Given the description of an element on the screen output the (x, y) to click on. 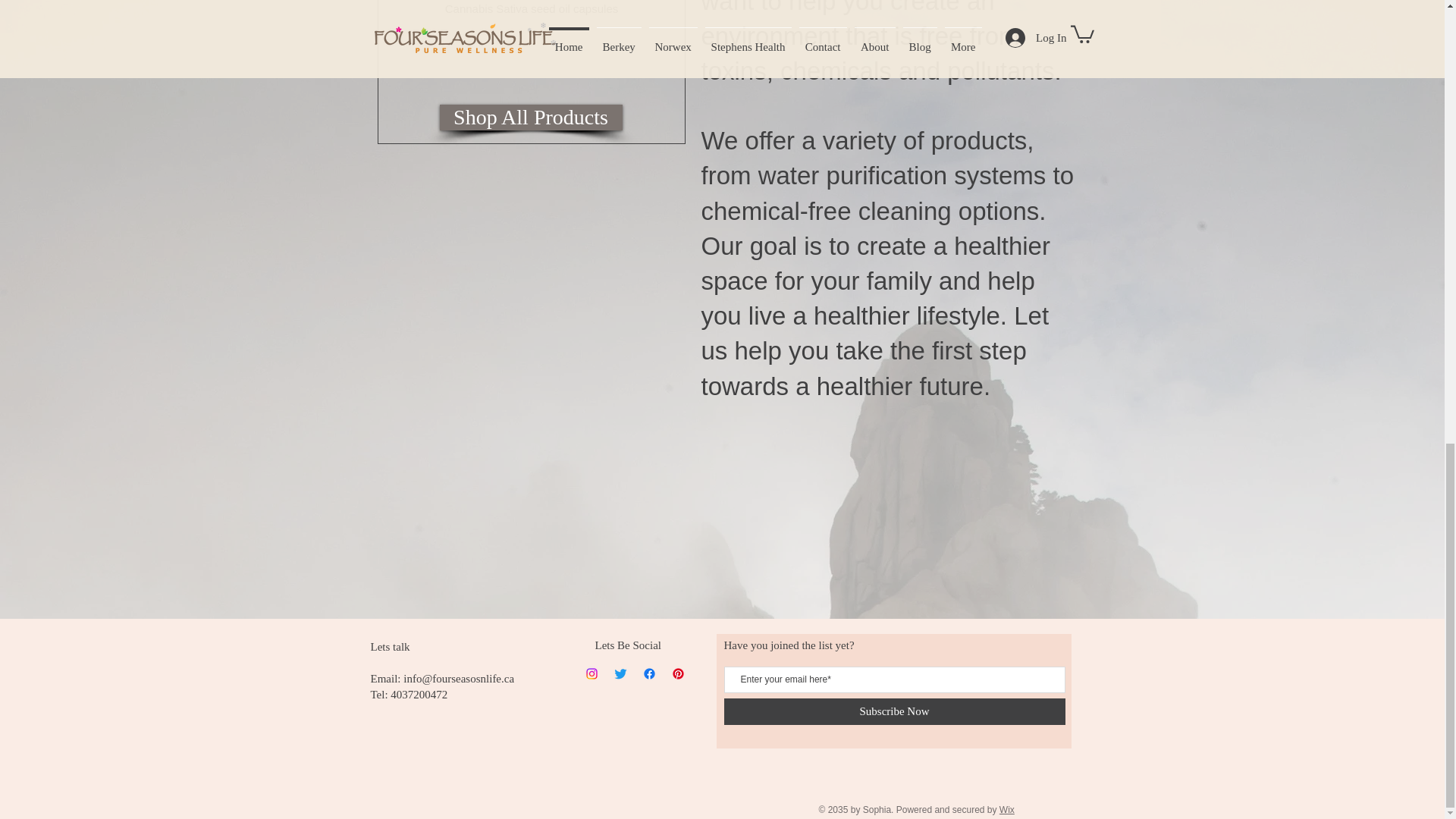
Shop All Products (531, 117)
Cannabis Sativa seed oil capsules (531, 47)
Wix (1006, 809)
Subscribe Now (893, 711)
Cannabis Sativa seed oil capsules (531, 47)
